Given the description of an element on the screen output the (x, y) to click on. 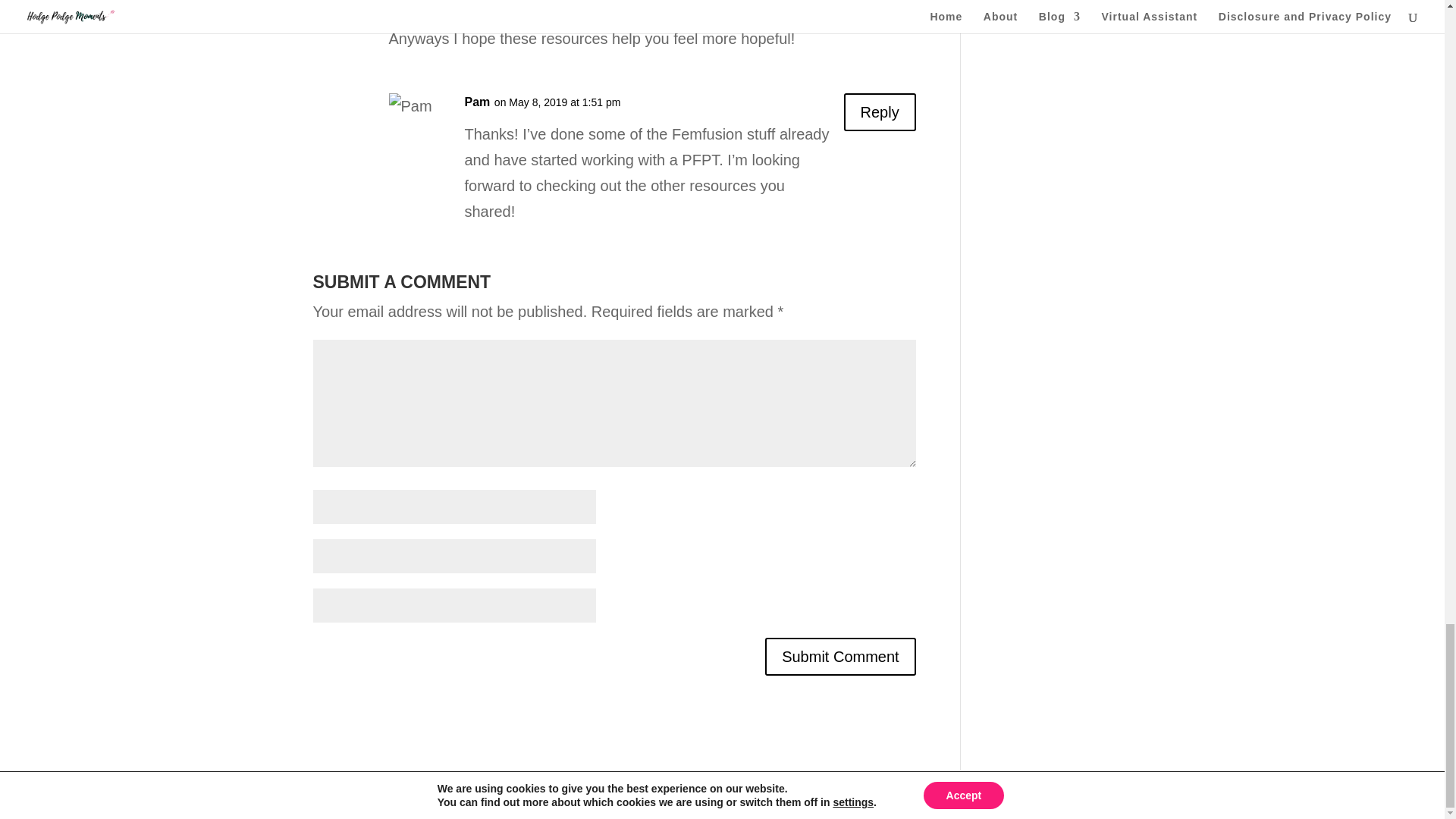
Reply (879, 112)
Submit Comment (840, 656)
Submit Comment (840, 656)
